Given the description of an element on the screen output the (x, y) to click on. 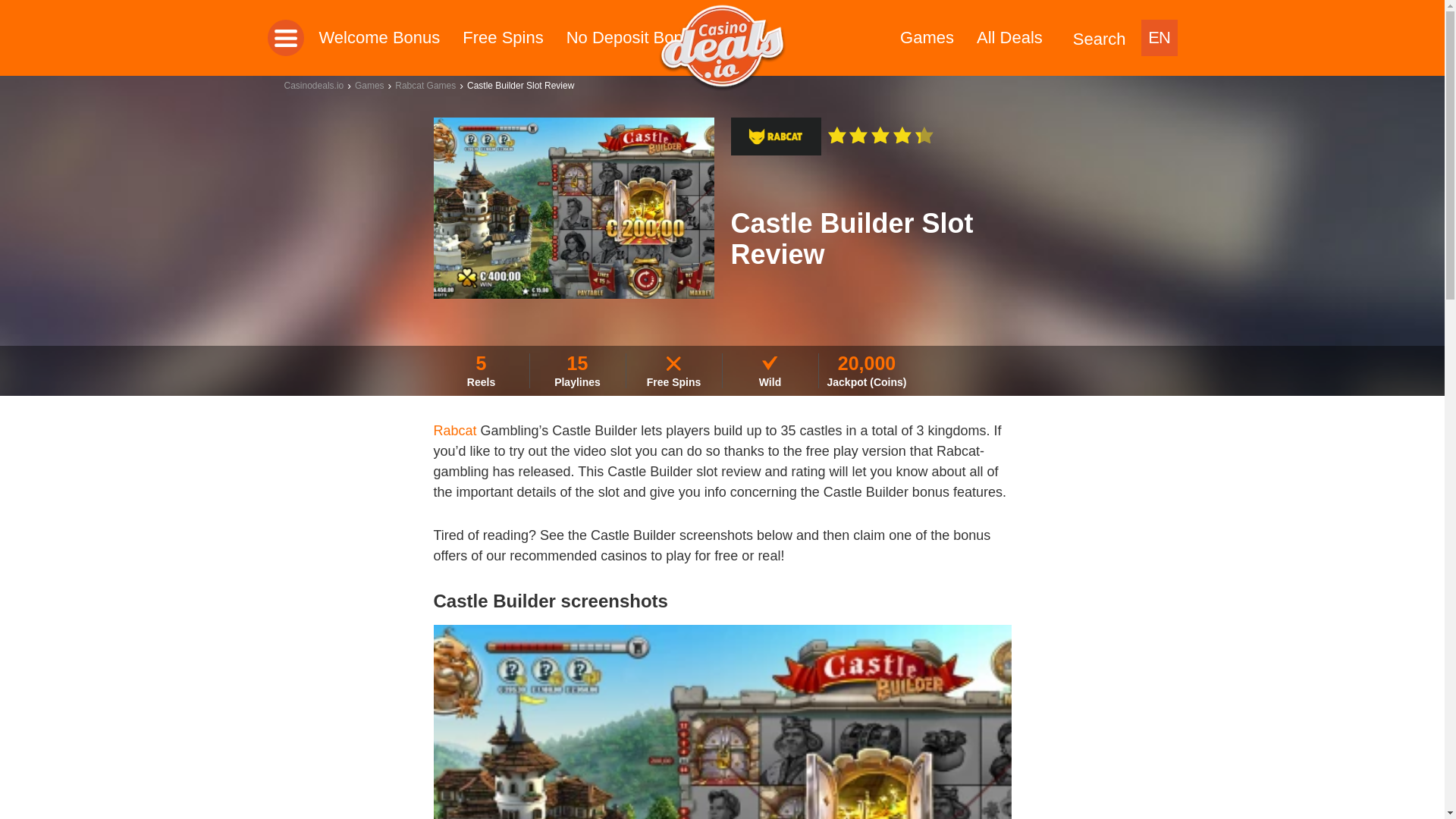
Games (926, 37)
Search (1099, 38)
All Deals (1009, 37)
Casinodeals.io (722, 47)
No Deposit Bonus (633, 37)
Free Spins (503, 37)
Rabcat Online Casinos (775, 136)
Welcome Bonus (378, 37)
